Given the description of an element on the screen output the (x, y) to click on. 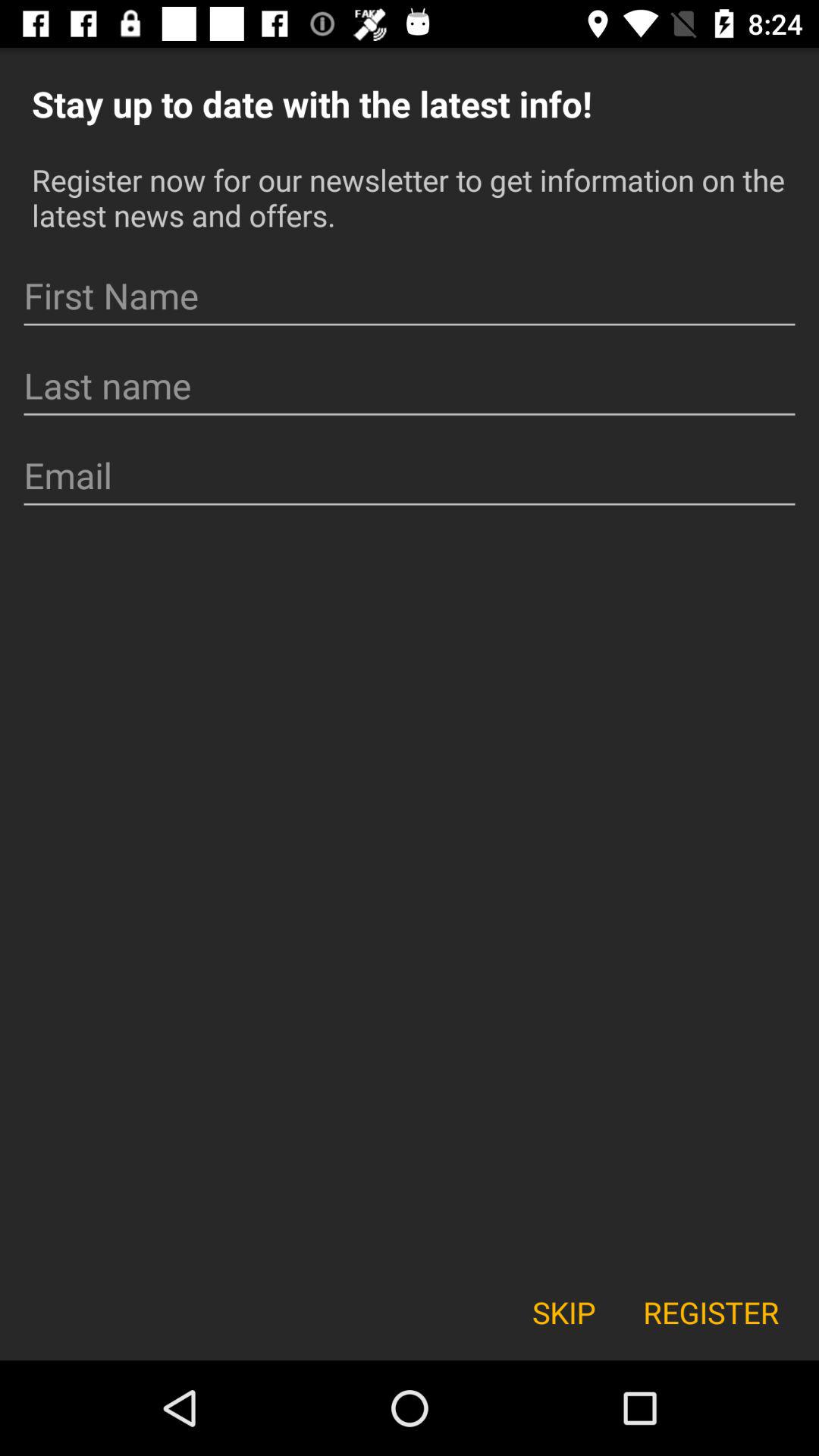
enter email (409, 475)
